Given the description of an element on the screen output the (x, y) to click on. 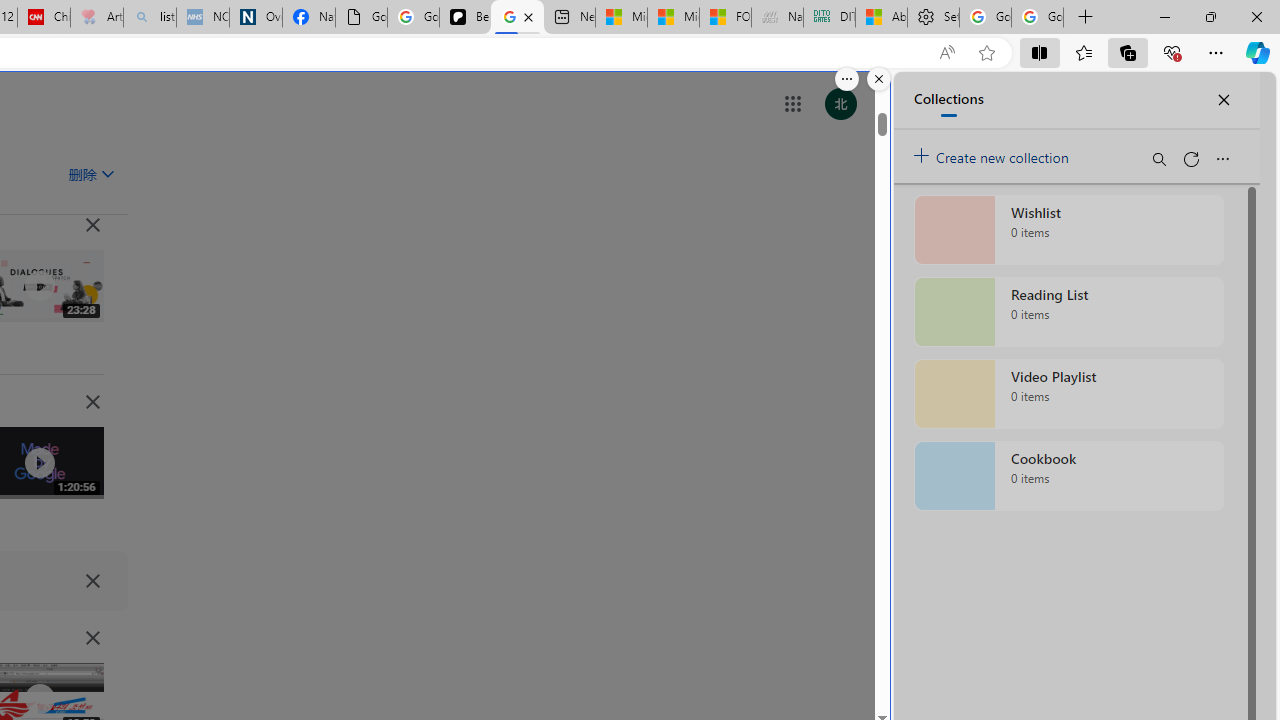
Class: asE2Ub NMm5M (107, 173)
Arthritis: Ask Health Professionals - Sleeping (96, 17)
